Given the description of an element on the screen output the (x, y) to click on. 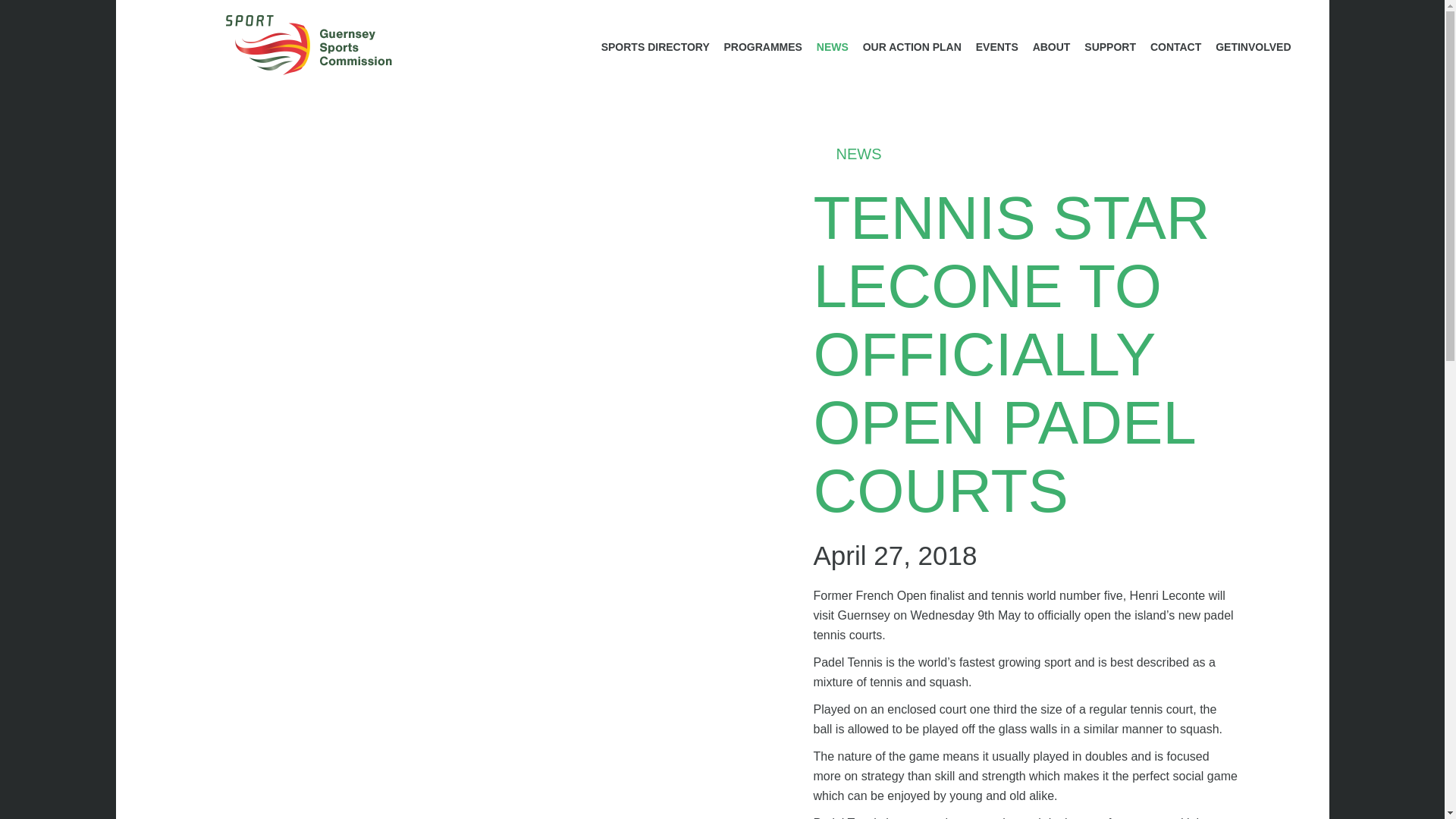
ABOUT (1051, 46)
SPORTS DIRECTORY (655, 46)
NEWS (832, 46)
EVENTS (996, 46)
PROGRAMMES (762, 46)
OUR ACTION PLAN (911, 46)
